Given the description of an element on the screen output the (x, y) to click on. 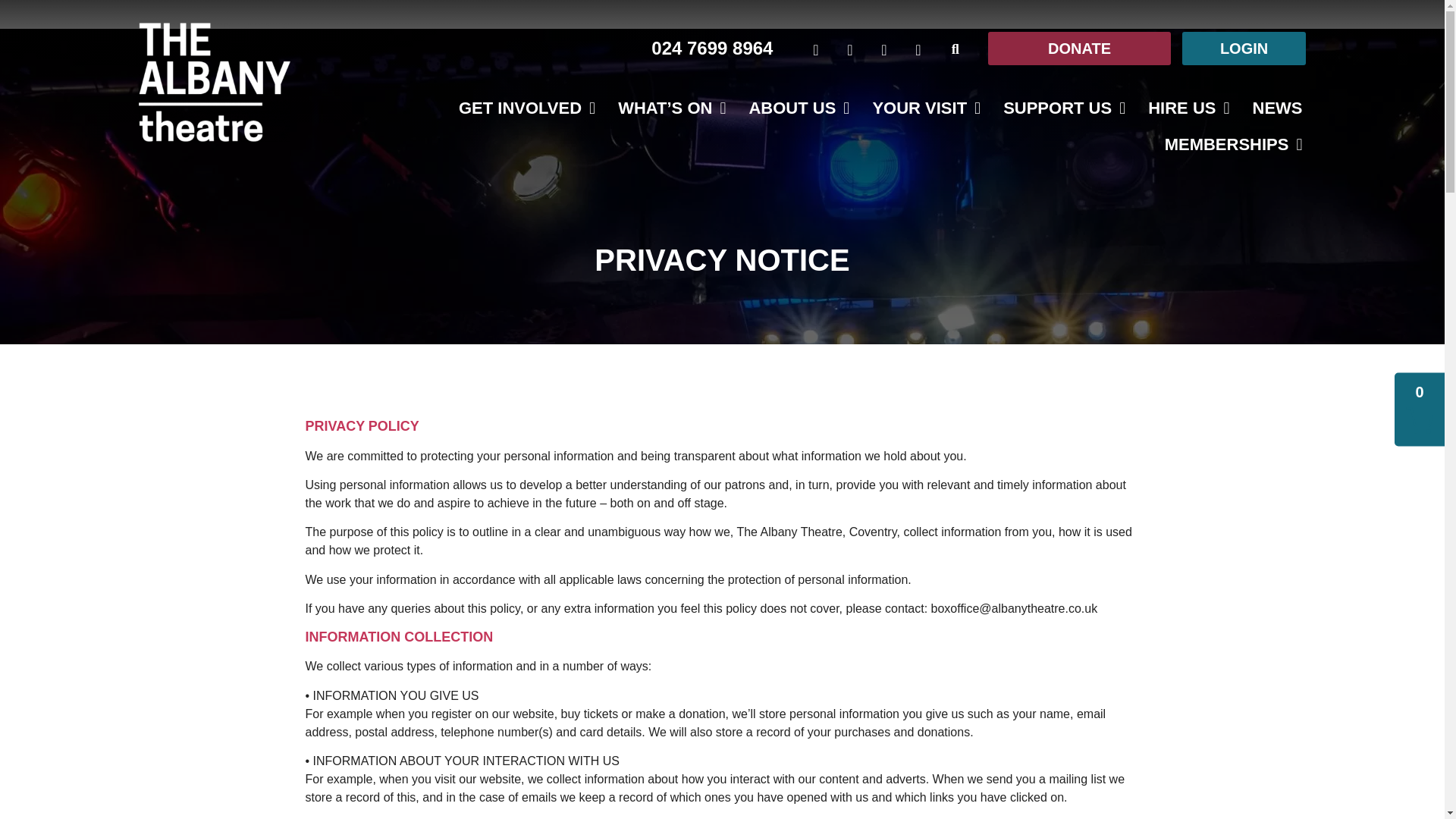
YOUR VISIT (925, 99)
GET INVOLVED (526, 6)
SUPPORT US (1064, 106)
ABOUT US (798, 82)
